Given the description of an element on the screen output the (x, y) to click on. 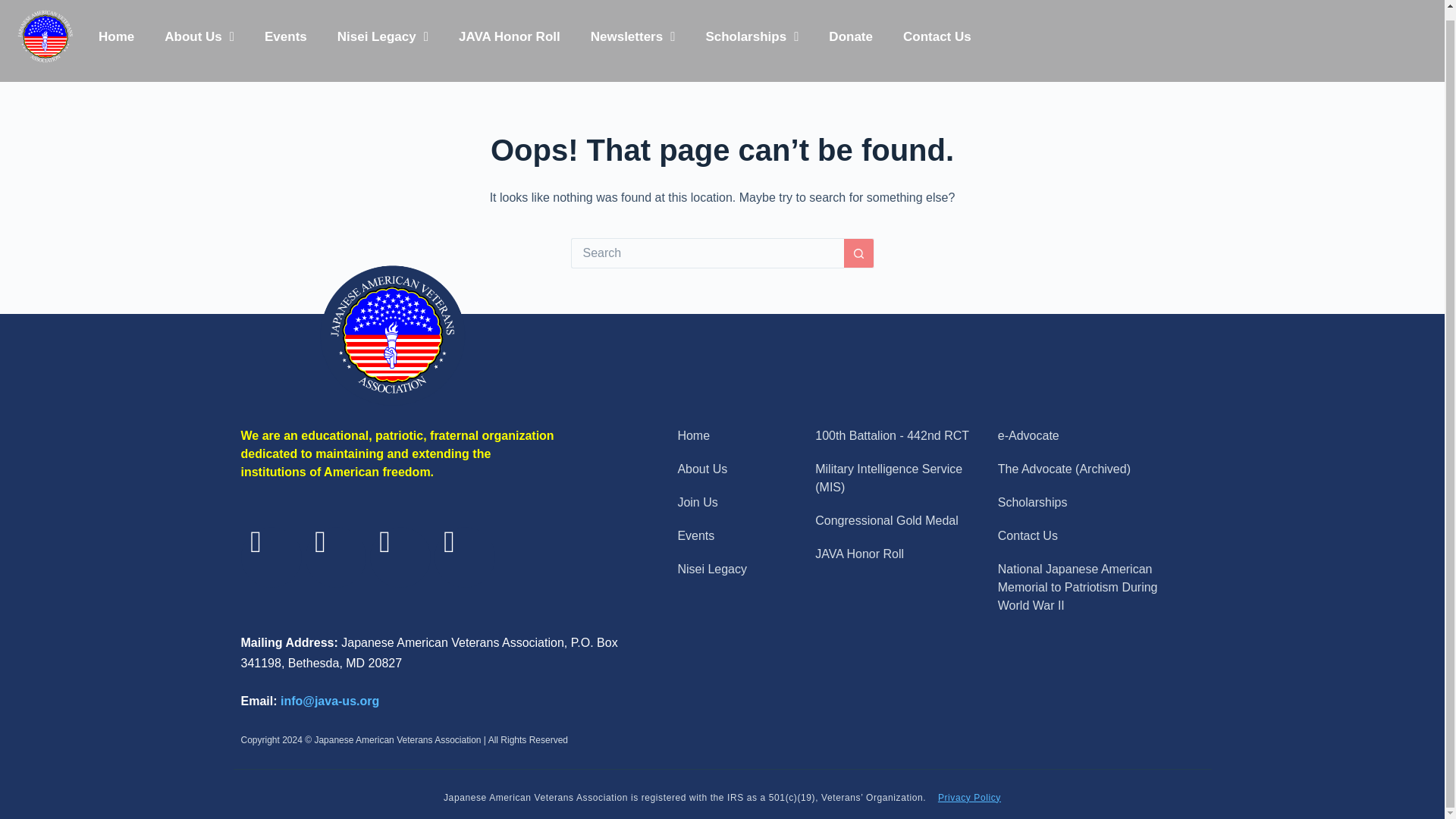
Nisei Legacy (382, 36)
Skip to content (15, 2)
Scholarships (751, 36)
Newsletters (632, 36)
Events (284, 36)
About Us (198, 36)
JAVA Logo (44, 37)
JAVA Honor Roll (509, 36)
Home (115, 36)
Search for... (706, 253)
Donate (850, 36)
Contact Us (937, 36)
